Given the description of an element on the screen output the (x, y) to click on. 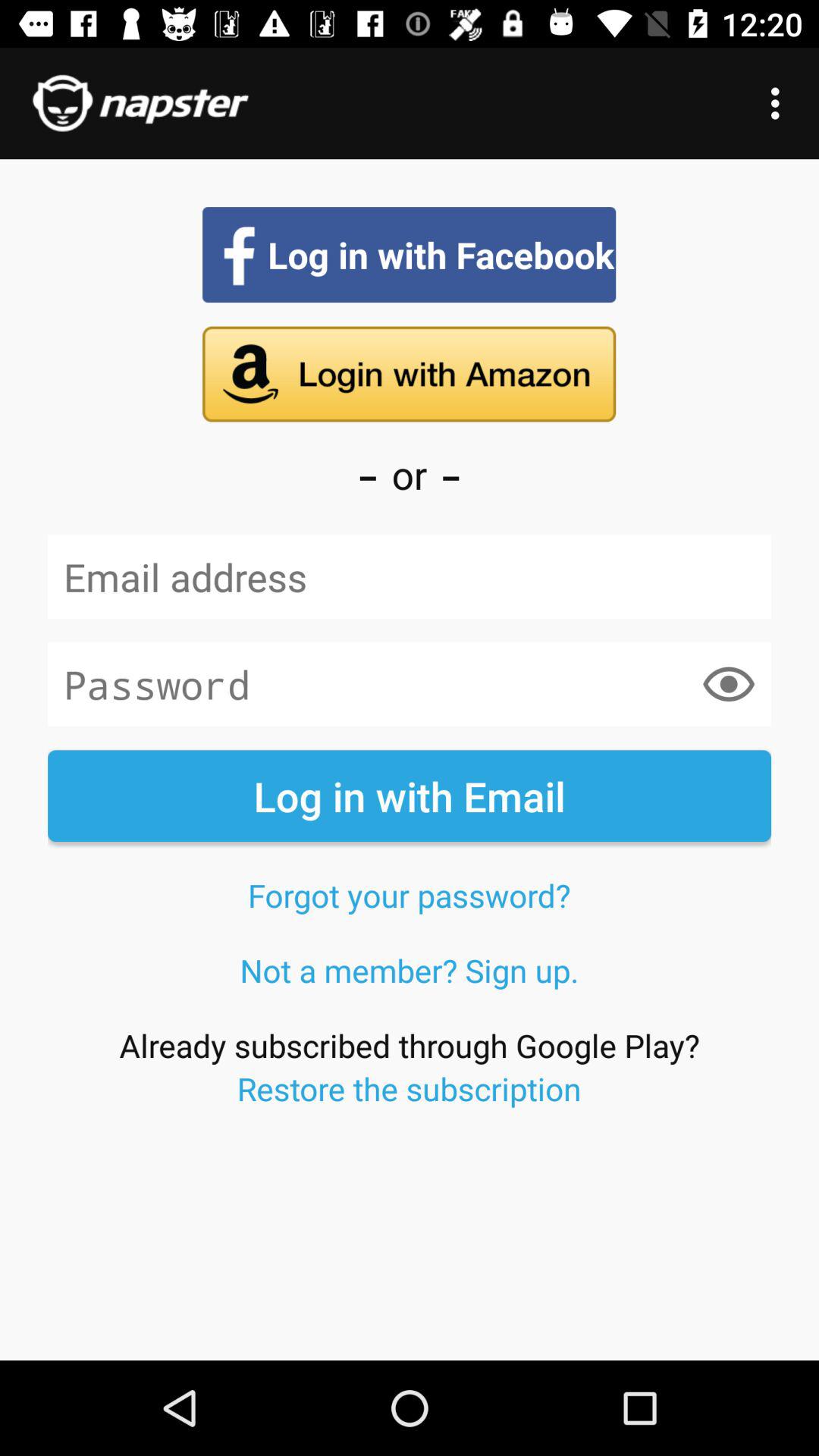
select the icon at the top right corner (779, 103)
